Given the description of an element on the screen output the (x, y) to click on. 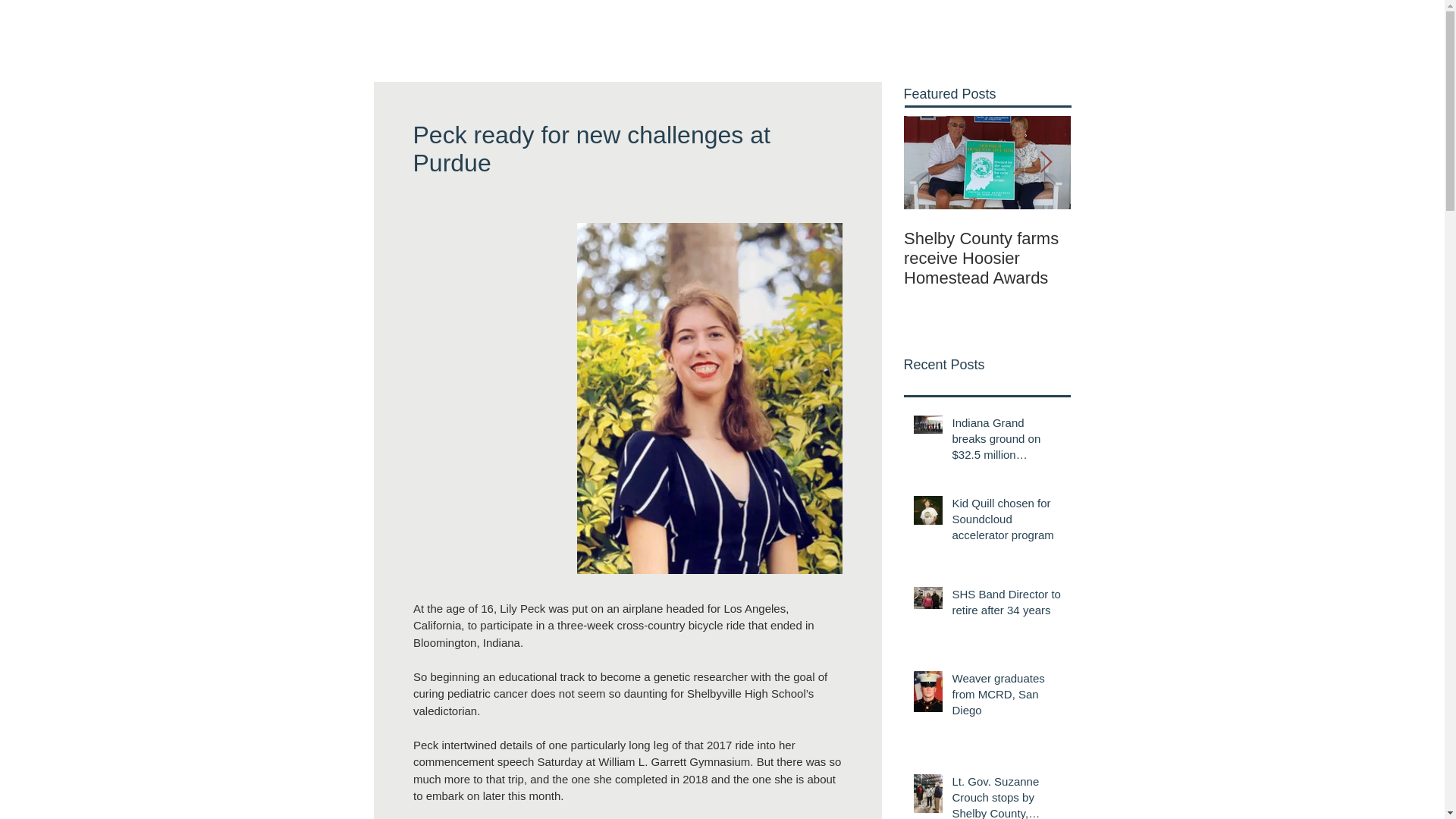
Weaver graduates from MCRD, San Diego (1006, 696)
Kid Quill chosen for Soundcloud accelerator program (1006, 521)
Shelby County farms receive Hoosier Homestead Awards (987, 258)
SHS Band Director to retire after 34 years (1006, 605)
Southwestern student finishes first in Braille Challenge (1153, 258)
